Given the description of an element on the screen output the (x, y) to click on. 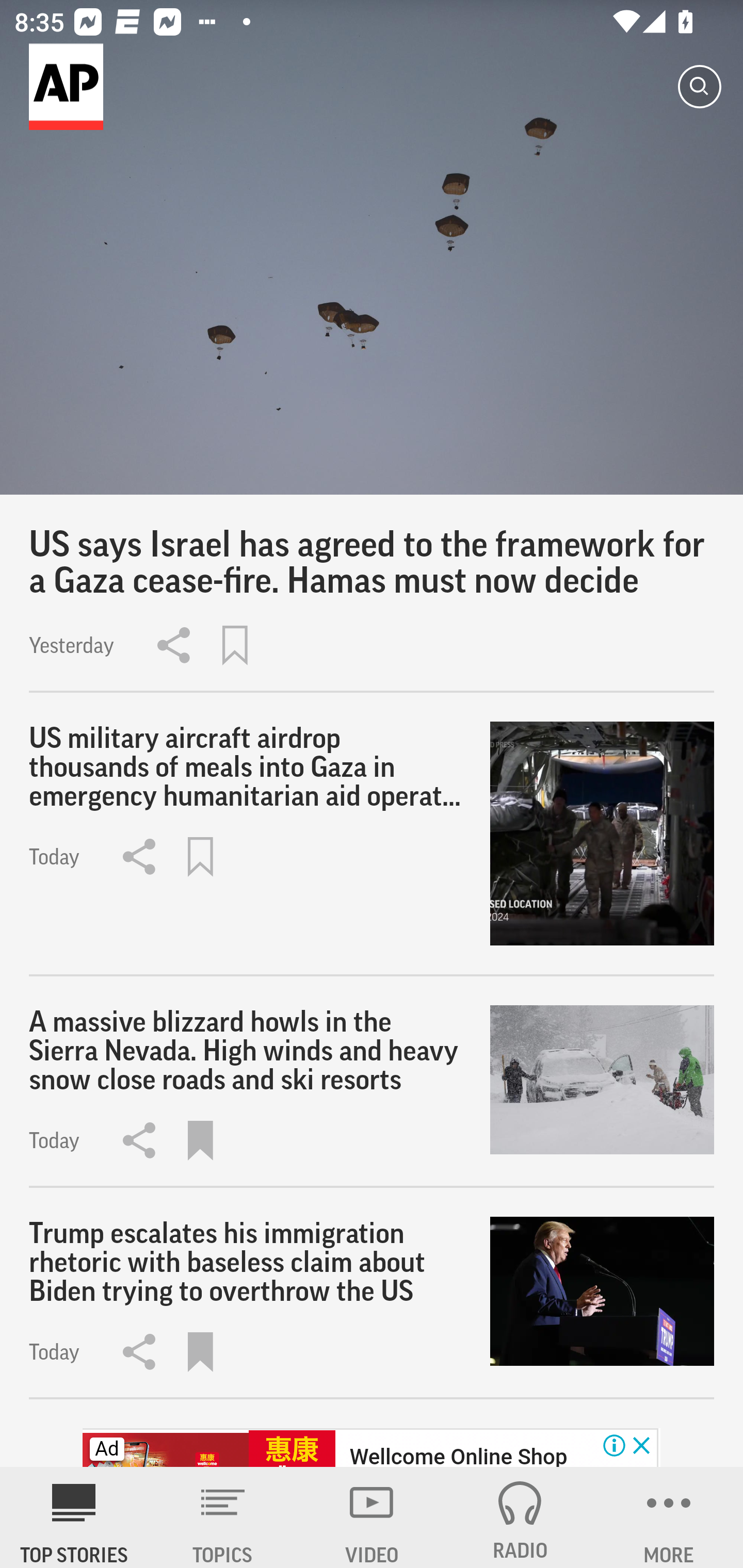
Wellcome Online Shop (457, 1454)
AP News TOP STORIES (74, 1517)
TOPICS (222, 1517)
VIDEO (371, 1517)
RADIO (519, 1517)
MORE (668, 1517)
